Given the description of an element on the screen output the (x, y) to click on. 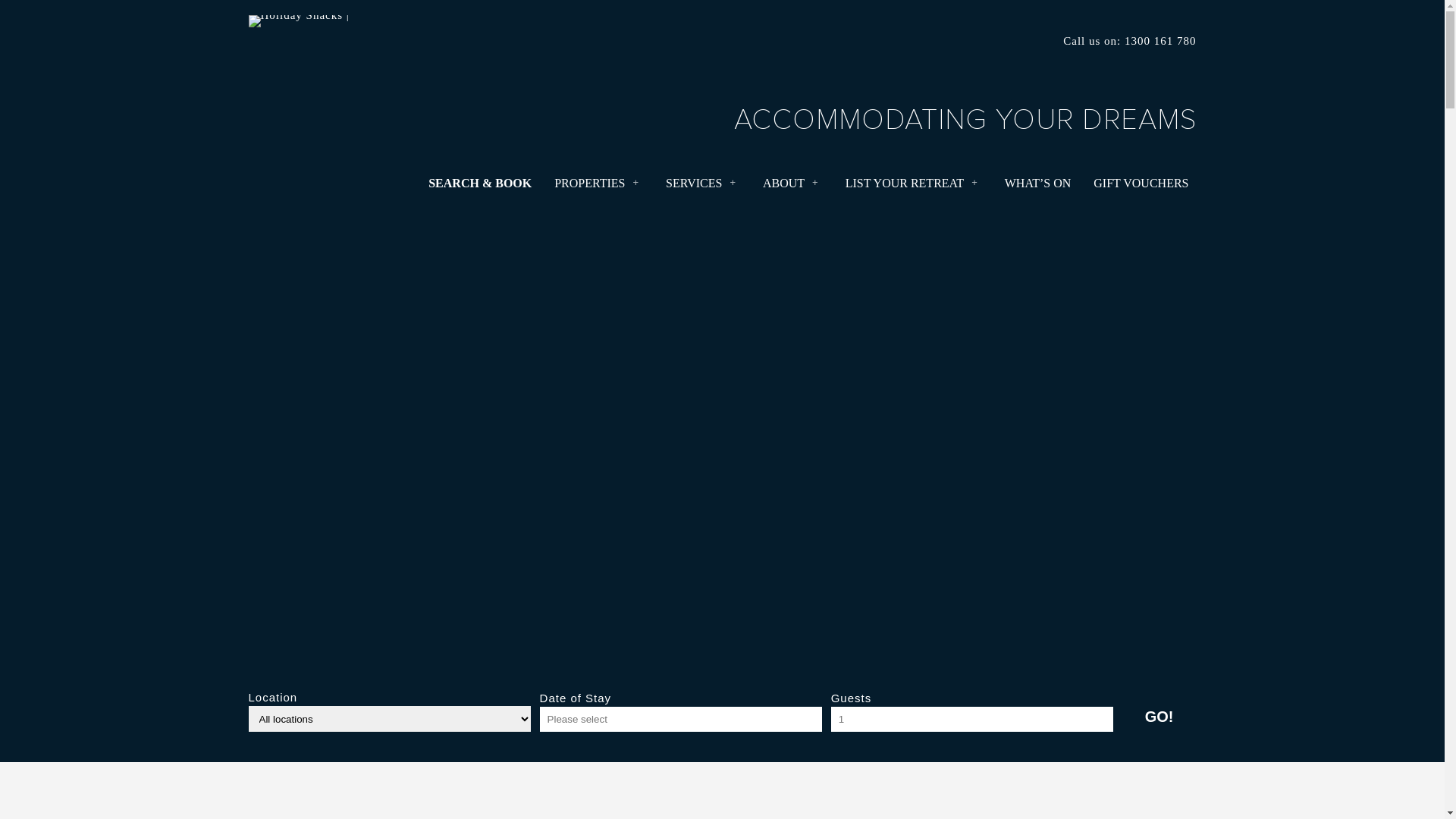
GIFT VOUCHERS Element type: text (1140, 183)
ABOUT Element type: text (783, 183)
LIST YOUR RETREAT Element type: text (904, 183)
Call us on: 1300 161 780 Element type: text (1129, 40)
PROPERTIES Element type: text (589, 183)
SERVICES Element type: text (693, 183)
SEARCH & BOOK Element type: text (479, 183)
GO! Element type: text (1159, 716)
